Given the description of an element on the screen output the (x, y) to click on. 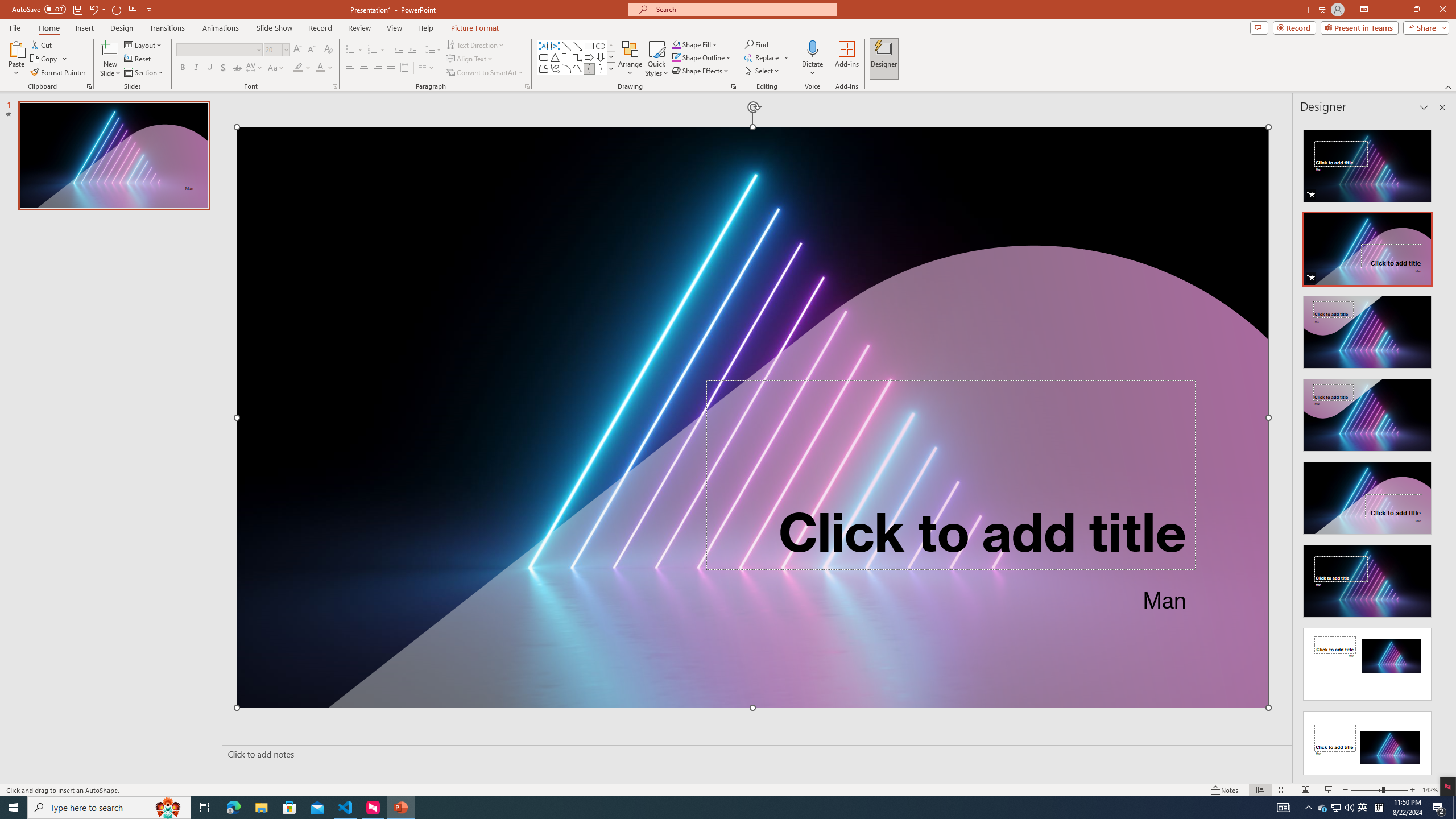
Zoom 142% (1430, 790)
